Given the description of an element on the screen output the (x, y) to click on. 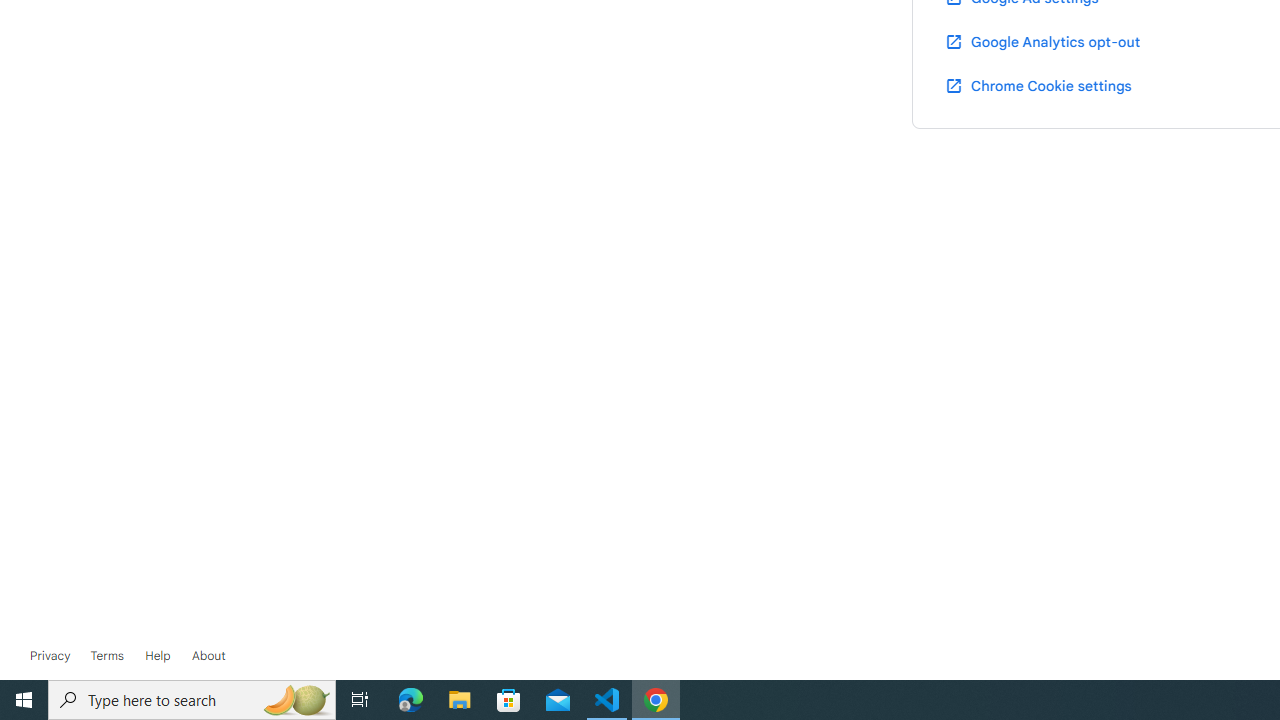
Chrome Cookie settings (1037, 85)
Learn more about Google Account (208, 655)
Google Analytics opt-out (1041, 41)
